Given the description of an element on the screen output the (x, y) to click on. 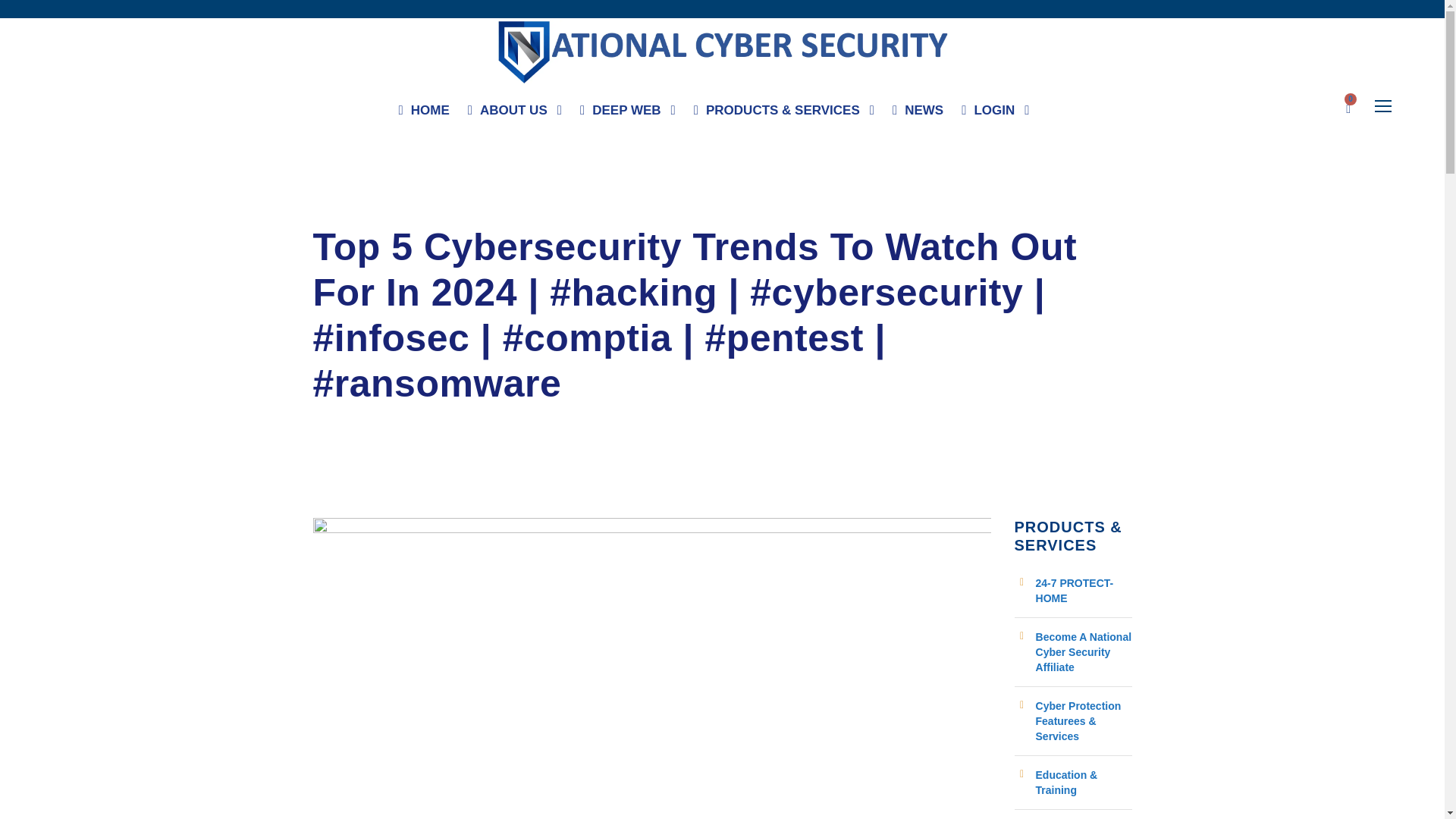
ABOUT US (514, 114)
Posts by Natioinal Cyber Security Training Academy Corp (443, 211)
HOME (423, 114)
DEEP WEB (627, 114)
